Given the description of an element on the screen output the (x, y) to click on. 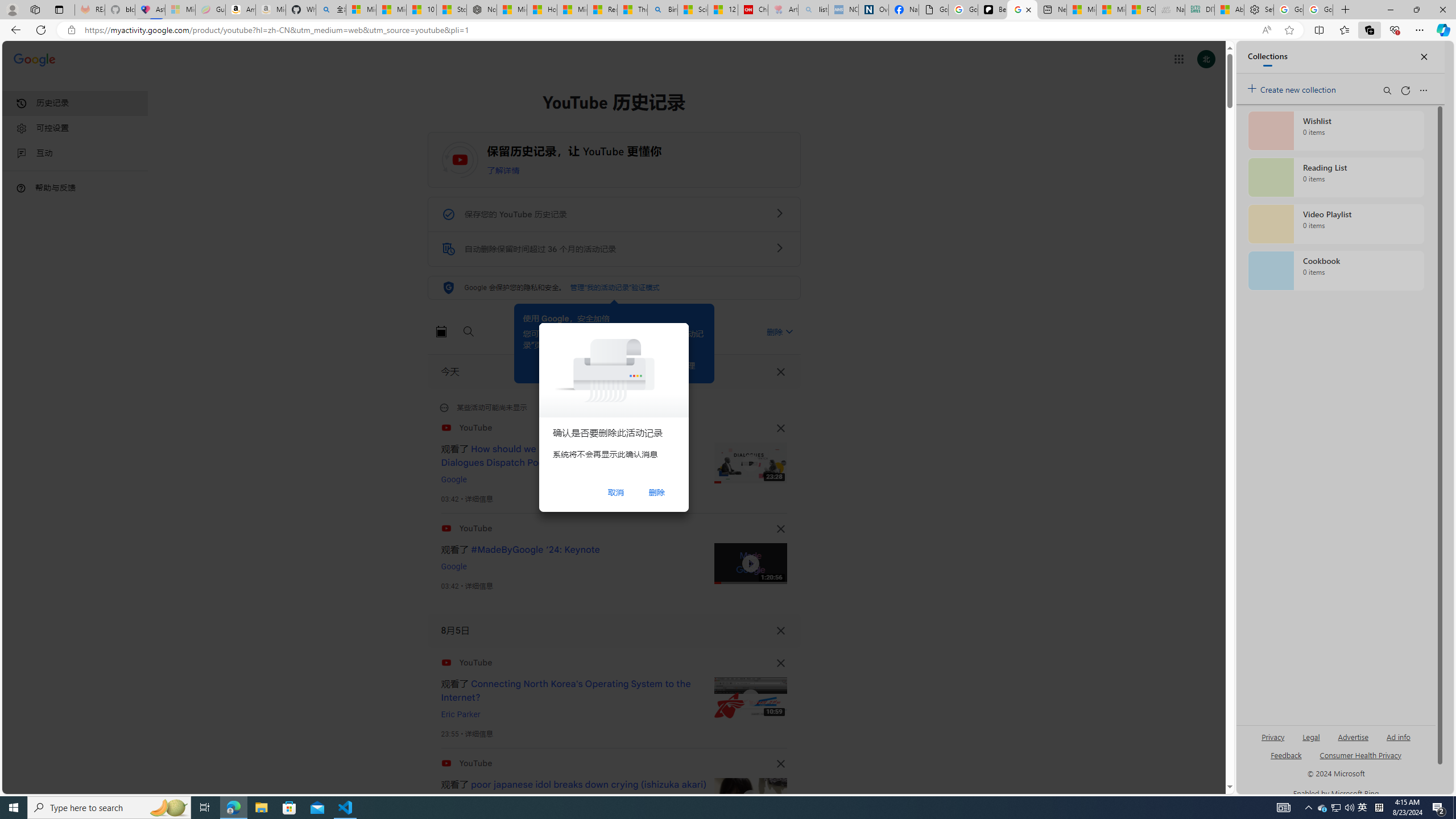
Asthma Inhalers: Names and Types (149, 9)
Nordace - Nordace Siena Is Not An Ordinary Backpack (481, 9)
Address and search bar (669, 29)
Microsoft account | Privacy (360, 9)
Be Smart | creating Science videos | Patreon (991, 9)
Arthritis: Ask Health Professionals - Sleeping (782, 9)
